Given the description of an element on the screen output the (x, y) to click on. 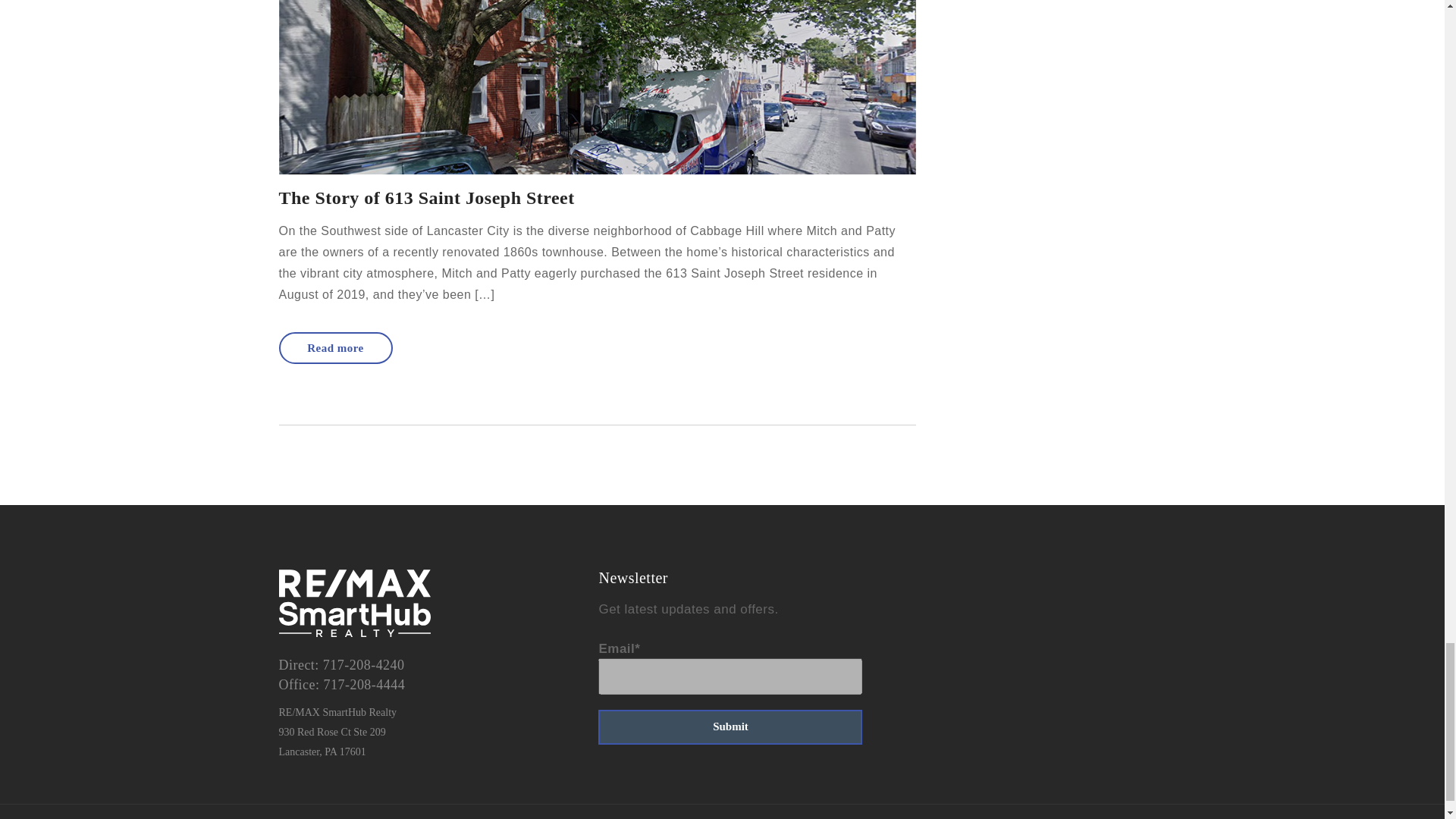
Submit (729, 726)
